Given the description of an element on the screen output the (x, y) to click on. 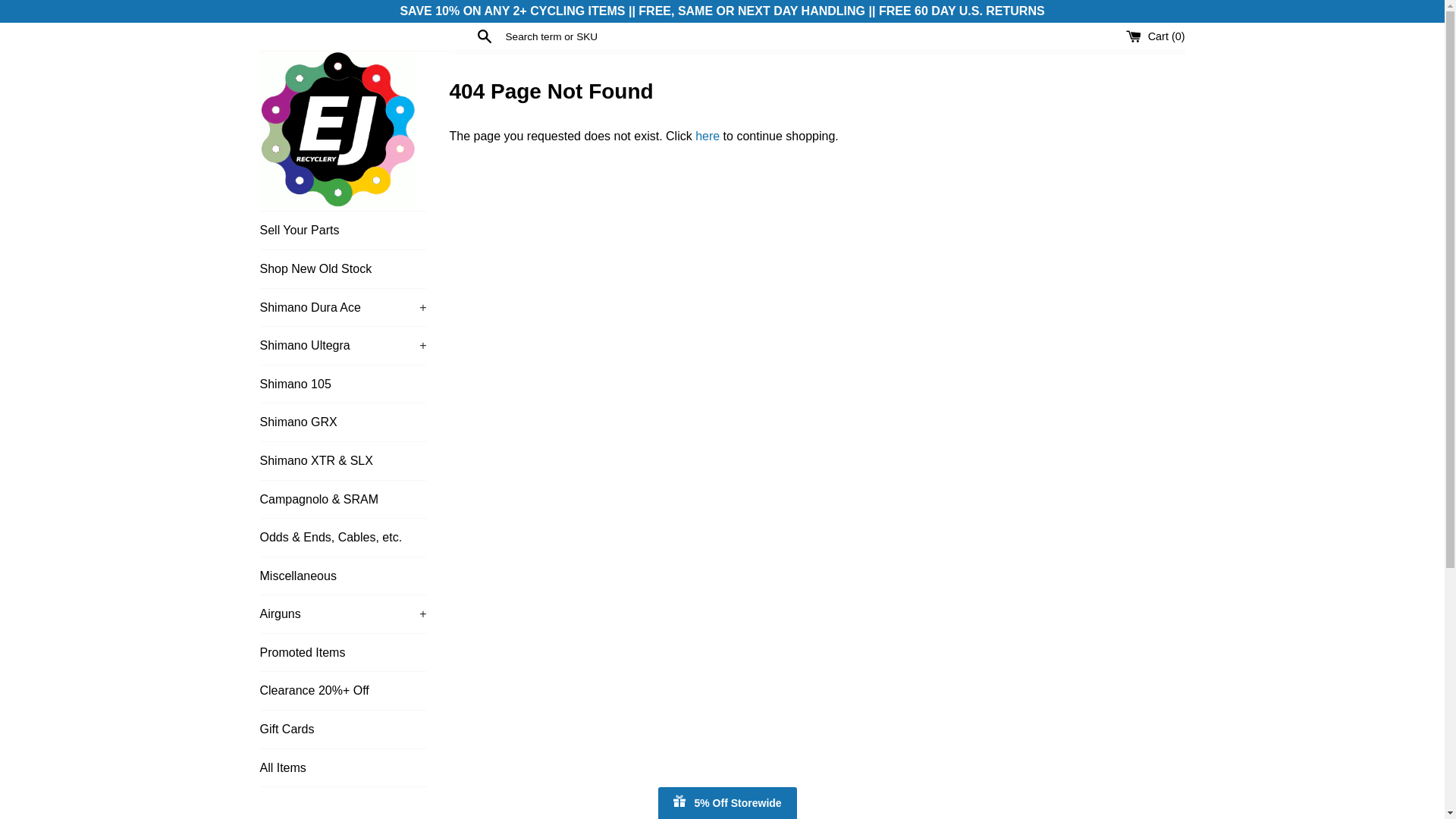
Promoted Items (342, 652)
Miscellaneous (342, 576)
Sell Your Parts (342, 230)
Search (483, 35)
Gift Cards (342, 729)
All Items (342, 768)
Shop New Old Stock (342, 269)
Shimano GRX (342, 422)
here (707, 135)
Shimano 105 (342, 384)
